Given the description of an element on the screen output the (x, y) to click on. 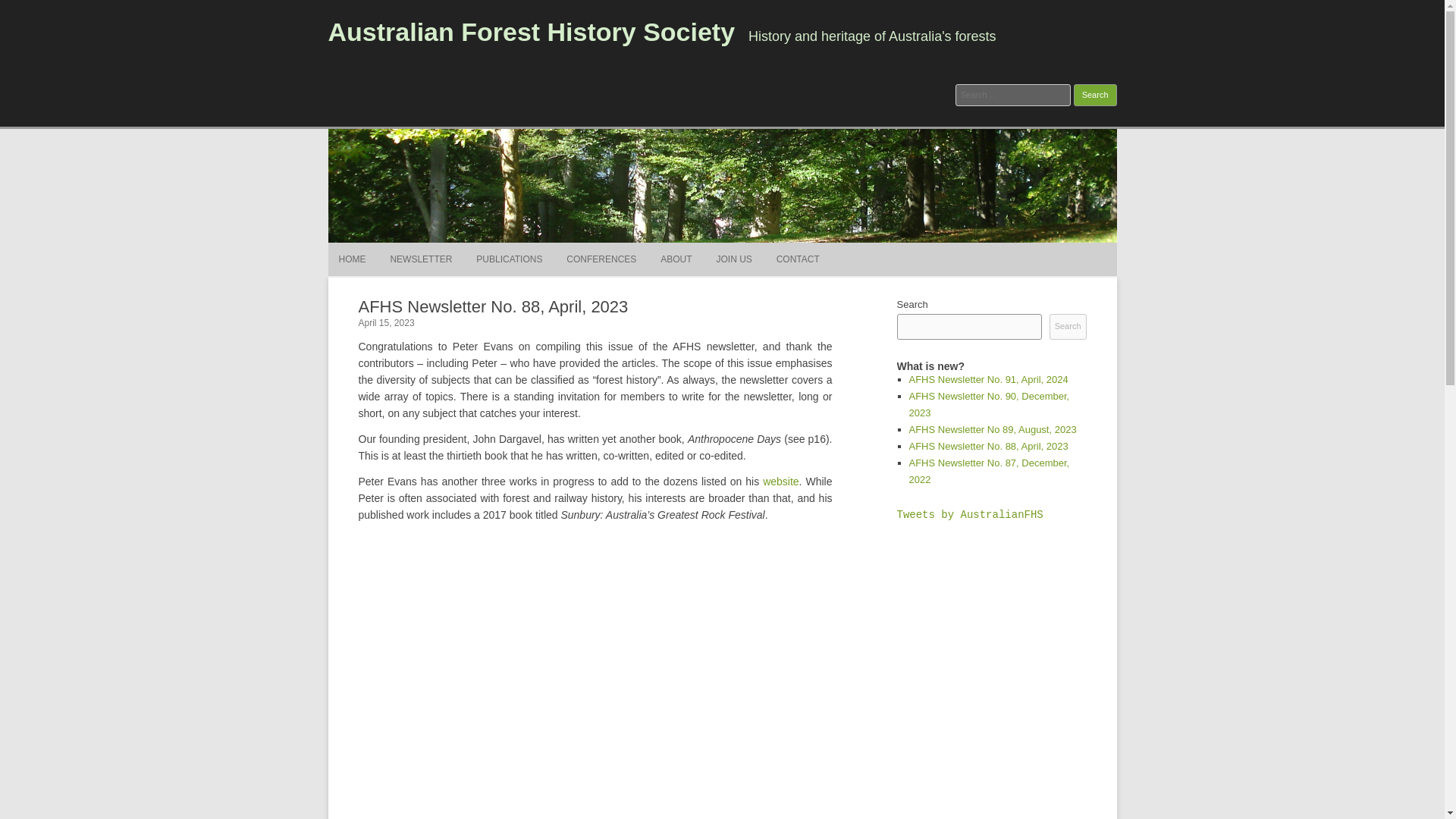
website (779, 481)
JOIN US (733, 259)
Search (1095, 95)
ABOUT (676, 259)
CONFERENCES (601, 259)
PUBLICATIONS (508, 259)
Skip to content (757, 247)
5:38 am (385, 322)
April 15, 2023 (385, 322)
AFHS Newsletter No. 90, December, 2023 (988, 404)
AFHS Newsletter No. 91, April, 2024 (987, 378)
Australian Forest History Society (531, 31)
CONTACT (797, 259)
AFHS Newsletter No. 87, December, 2022 (988, 471)
Search (1095, 95)
